Given the description of an element on the screen output the (x, y) to click on. 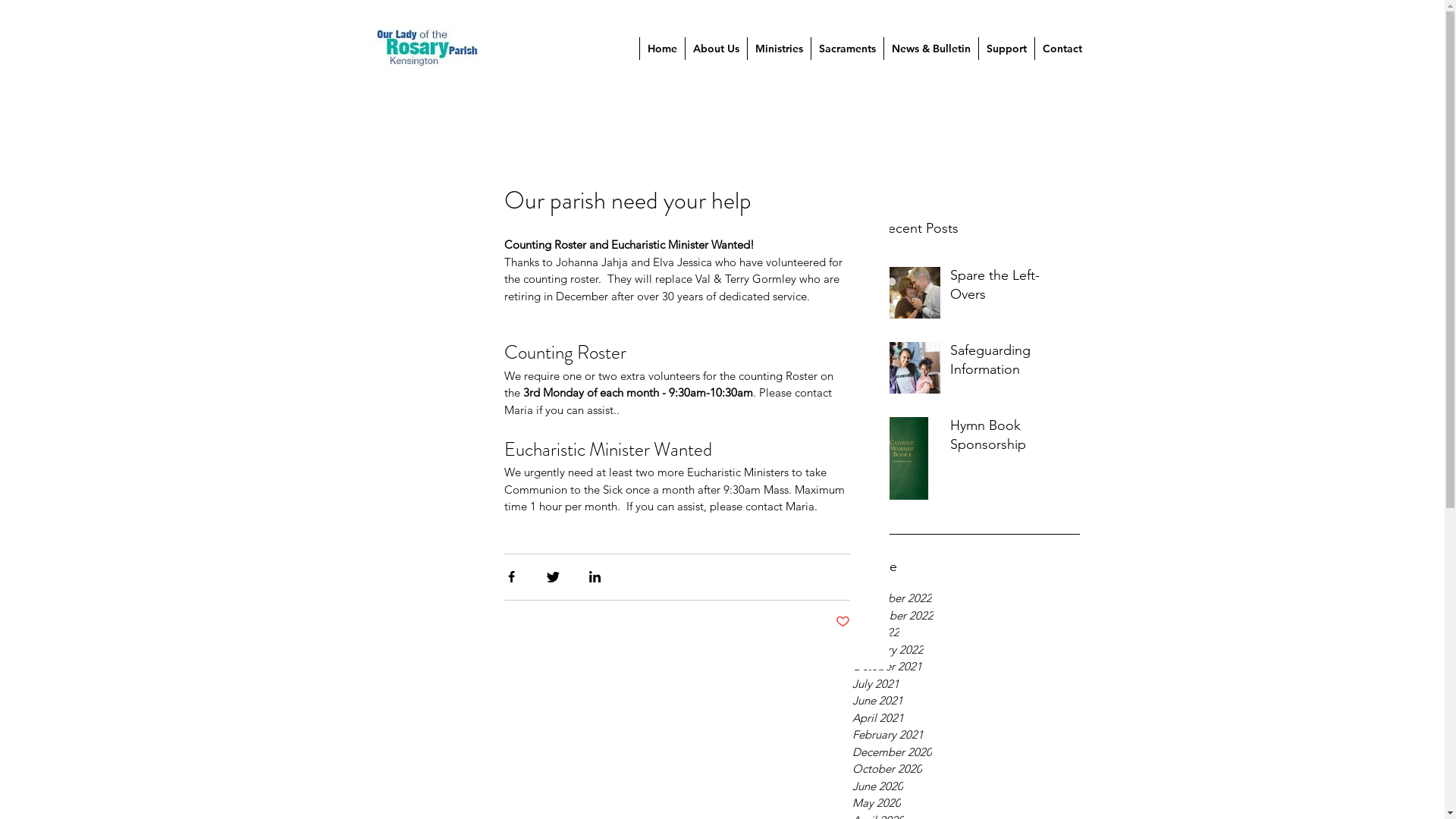
Safeguarding Information Element type: text (1009, 363)
October 2020 Element type: text (965, 769)
December 2020 Element type: text (965, 751)
April 2021 Element type: text (965, 718)
Hymn Book Sponsorship Element type: text (1009, 438)
May 2020 Element type: text (965, 803)
July 2021 Element type: text (965, 683)
February 2022 Element type: text (965, 649)
June 2021 Element type: text (965, 700)
November 2022 Element type: text (965, 615)
Post not marked as liked Element type: text (842, 622)
About Us Element type: text (715, 48)
Ministries Element type: text (777, 48)
Home Element type: text (661, 48)
News & Bulletin Element type: text (929, 48)
June 2020 Element type: text (965, 786)
December 2022 Element type: text (965, 598)
July 2022 Element type: text (965, 632)
Contact Element type: text (1061, 48)
February 2021 Element type: text (965, 734)
Sacraments Element type: text (845, 48)
Spare the Left-Overs Element type: text (1009, 288)
October 2021 Element type: text (965, 666)
Support Element type: text (1006, 48)
